Given the description of an element on the screen output the (x, y) to click on. 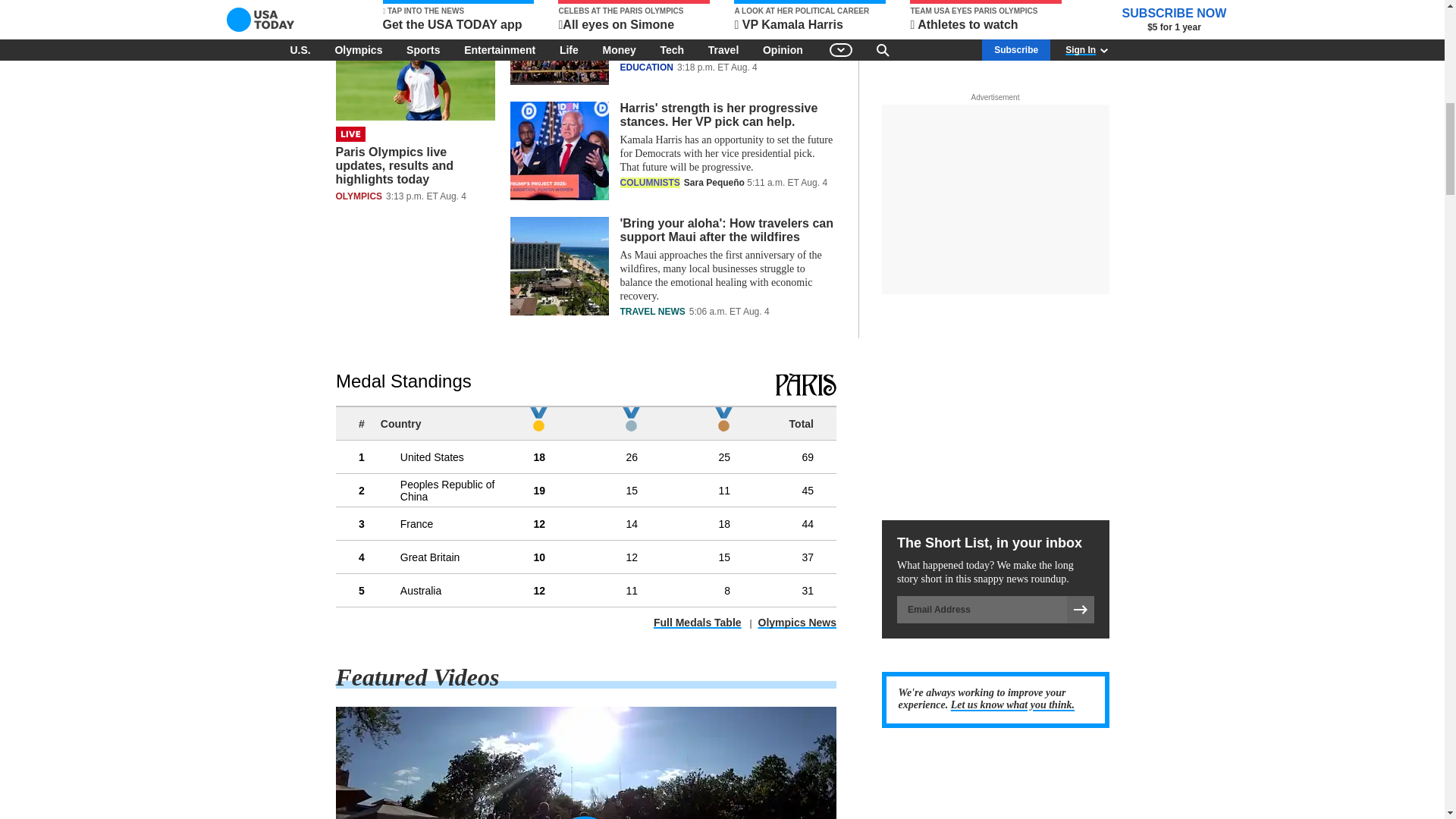
Olympic Results (584, 500)
